Given the description of an element on the screen output the (x, y) to click on. 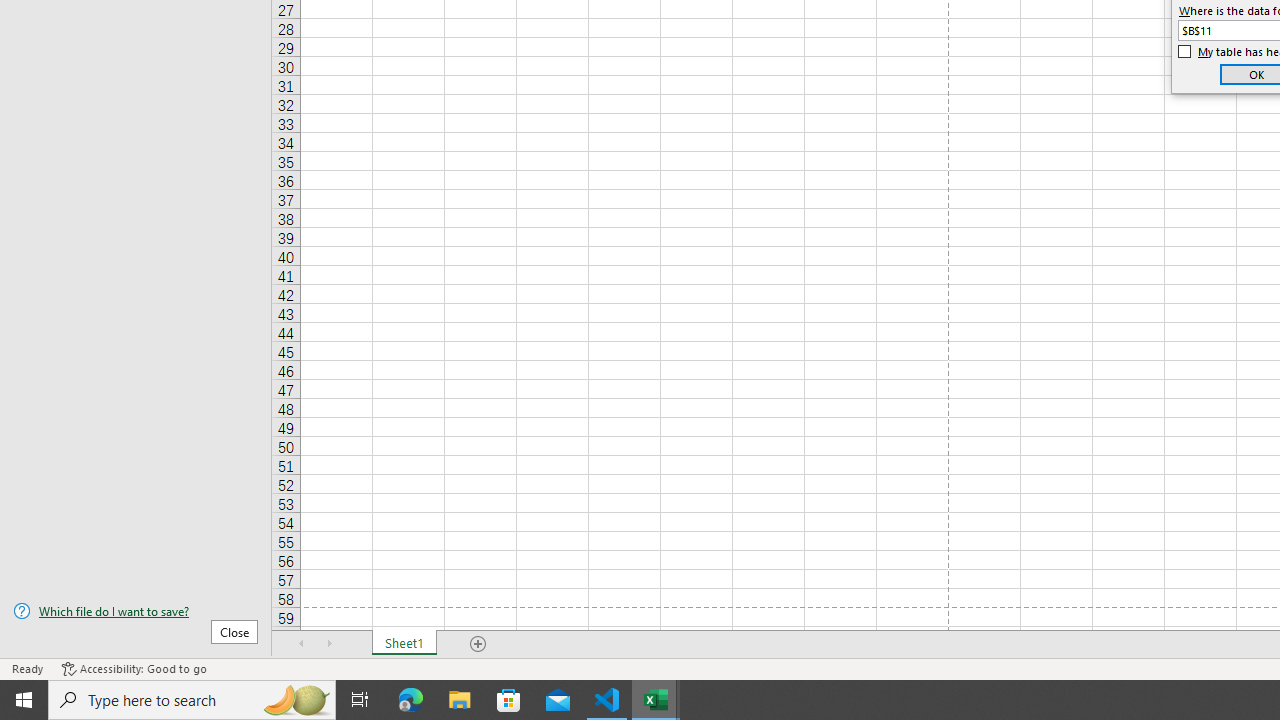
Scroll Left (302, 644)
Accessibility Checker Accessibility: Good to go (134, 668)
Which file do I want to save? (136, 611)
Close (234, 631)
Sheet1 (404, 644)
Add Sheet (478, 644)
Scroll Right (330, 644)
